Given the description of an element on the screen output the (x, y) to click on. 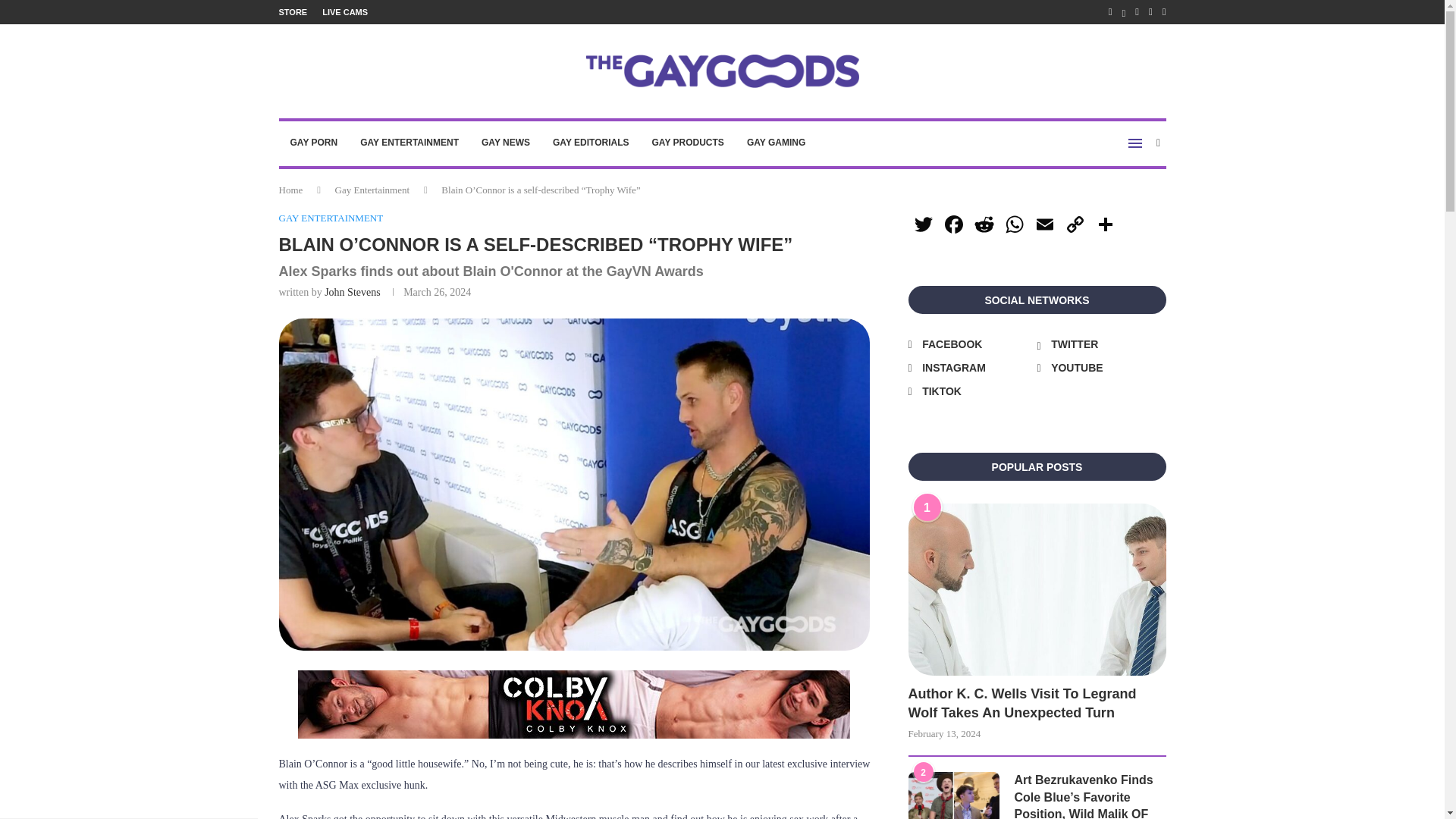
Home (290, 189)
GAY PRODUCTS (687, 143)
GAY NEWS (505, 143)
LIVE CAMS (344, 12)
STORE (293, 12)
Gay Entertainment (372, 189)
GAY EDITORIALS (590, 143)
John Stevens (352, 292)
GAY GAMING (775, 143)
GAY ENTERTAINMENT (409, 143)
GAY ENTERTAINMENT (331, 218)
GAY PORN (314, 143)
